Given the description of an element on the screen output the (x, y) to click on. 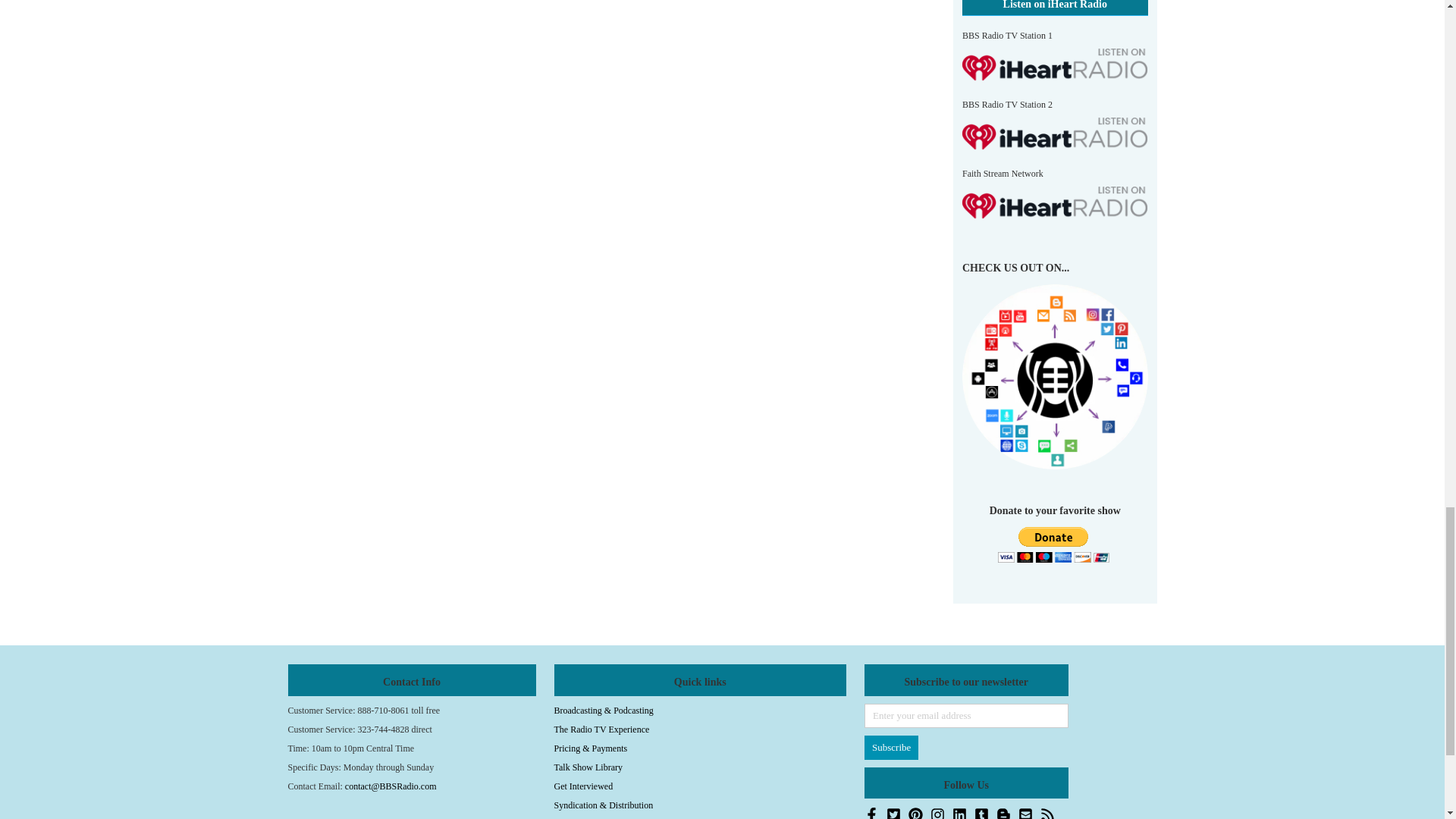
Subscribe (891, 747)
